Given the description of an element on the screen output the (x, y) to click on. 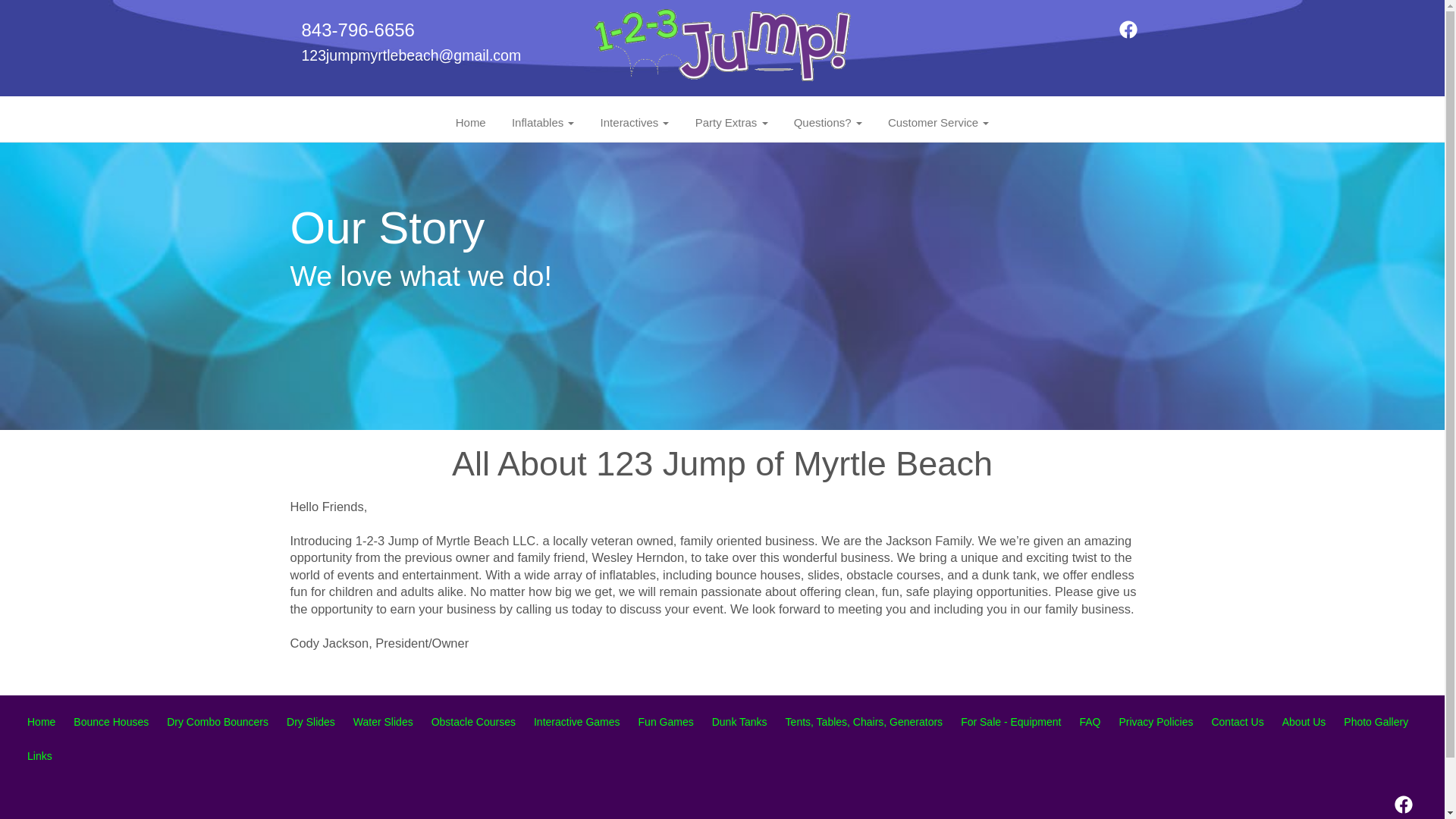
Fun Games Element type: text (665, 721)
Obstacle Courses Element type: text (473, 721)
Water Slides Element type: text (383, 721)
About Us Element type: text (1304, 721)
Questions? Element type: text (827, 122)
Dunk Tanks Element type: text (739, 721)
Contact Us Element type: text (1237, 721)
1-2-3 Jump Myrtle Beach! Element type: hover (721, 46)
Home Element type: text (470, 122)
Party Extras Element type: text (731, 122)
Home Element type: text (41, 721)
Interactives Element type: text (634, 122)
1-2-3 Jump Myrtle Beach! Facebook Element type: hover (1128, 34)
Privacy Policies Element type: text (1155, 721)
Tents, Tables, Chairs, Generators Element type: text (864, 721)
Inflatables Element type: text (543, 122)
Links Element type: text (39, 755)
Bounce Houses Element type: text (110, 721)
For Sale - Equipment Element type: text (1010, 721)
Customer Service Element type: text (938, 122)
Interactive Games Element type: text (576, 721)
Photo Gallery Element type: text (1375, 721)
FAQ Element type: text (1089, 721)
123jumpmyrtlebeach@gmail.com Element type: text (411, 55)
843-796-6656 Element type: text (357, 29)
Dry Combo Bouncers Element type: text (217, 721)
Dry Slides Element type: text (310, 721)
